Given the description of an element on the screen output the (x, y) to click on. 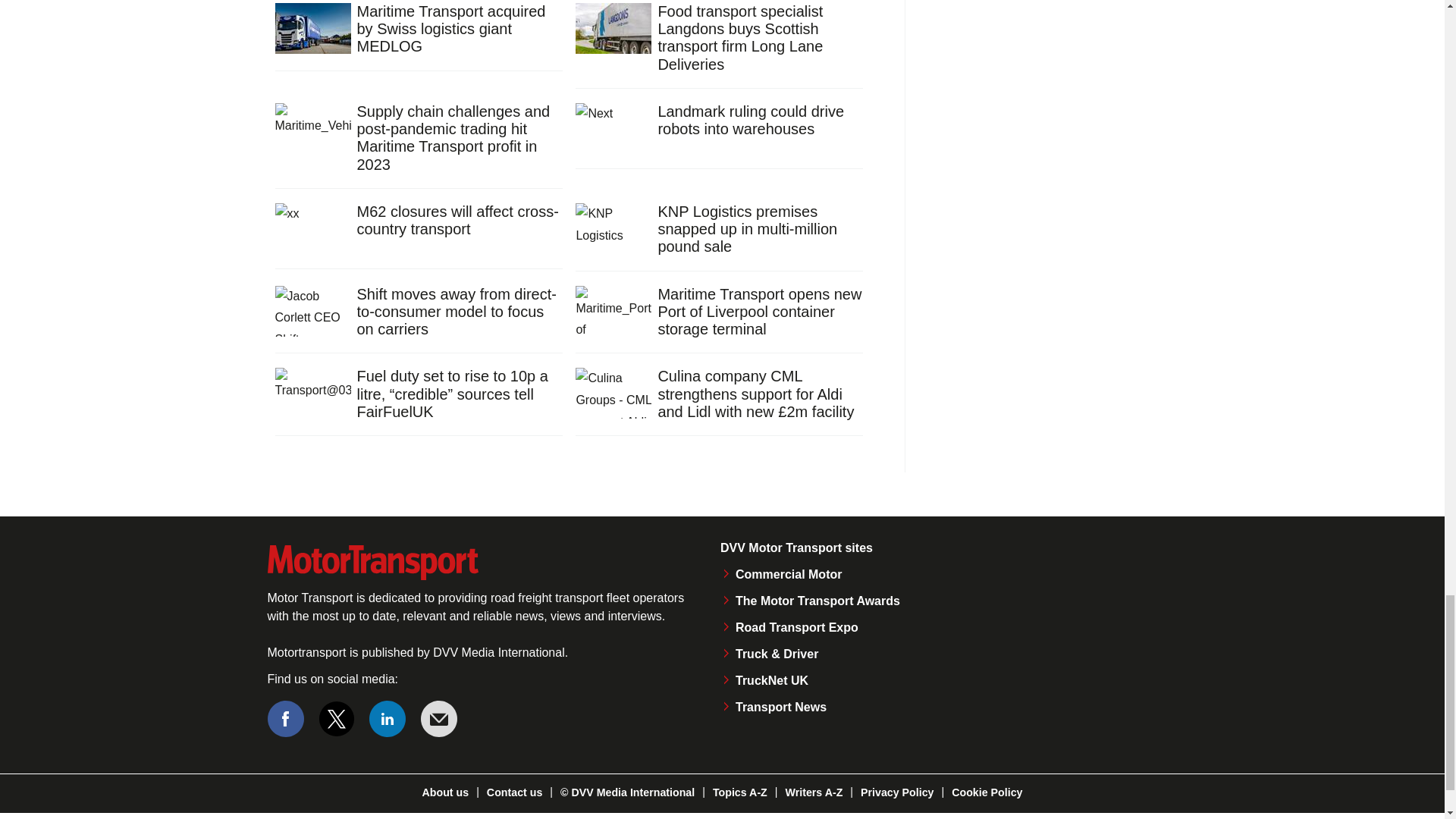
Connect with us on Twitter (336, 719)
Email us (438, 719)
Connect with us on Facebook (284, 719)
Connect with us on Linked in (387, 719)
